Given the description of an element on the screen output the (x, y) to click on. 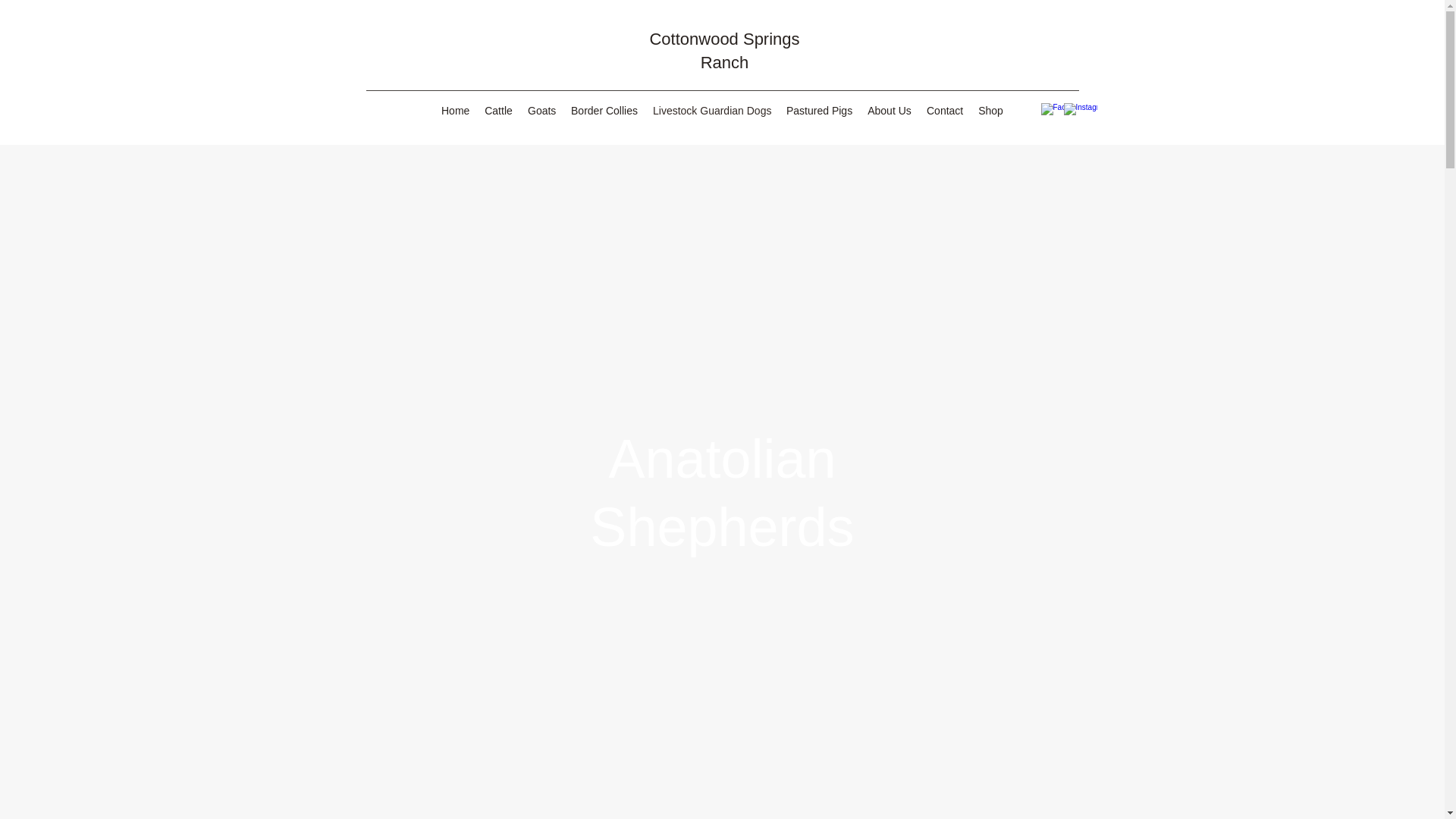
Livestock Guardian Dogs (711, 110)
Contact (944, 110)
Shop (990, 110)
Cottonwood Springs Ranch (724, 50)
Cattle (498, 110)
About Us (889, 110)
Pastured Pigs (819, 110)
Border Collies (604, 110)
Goats (541, 110)
Home (455, 110)
